Given the description of an element on the screen output the (x, y) to click on. 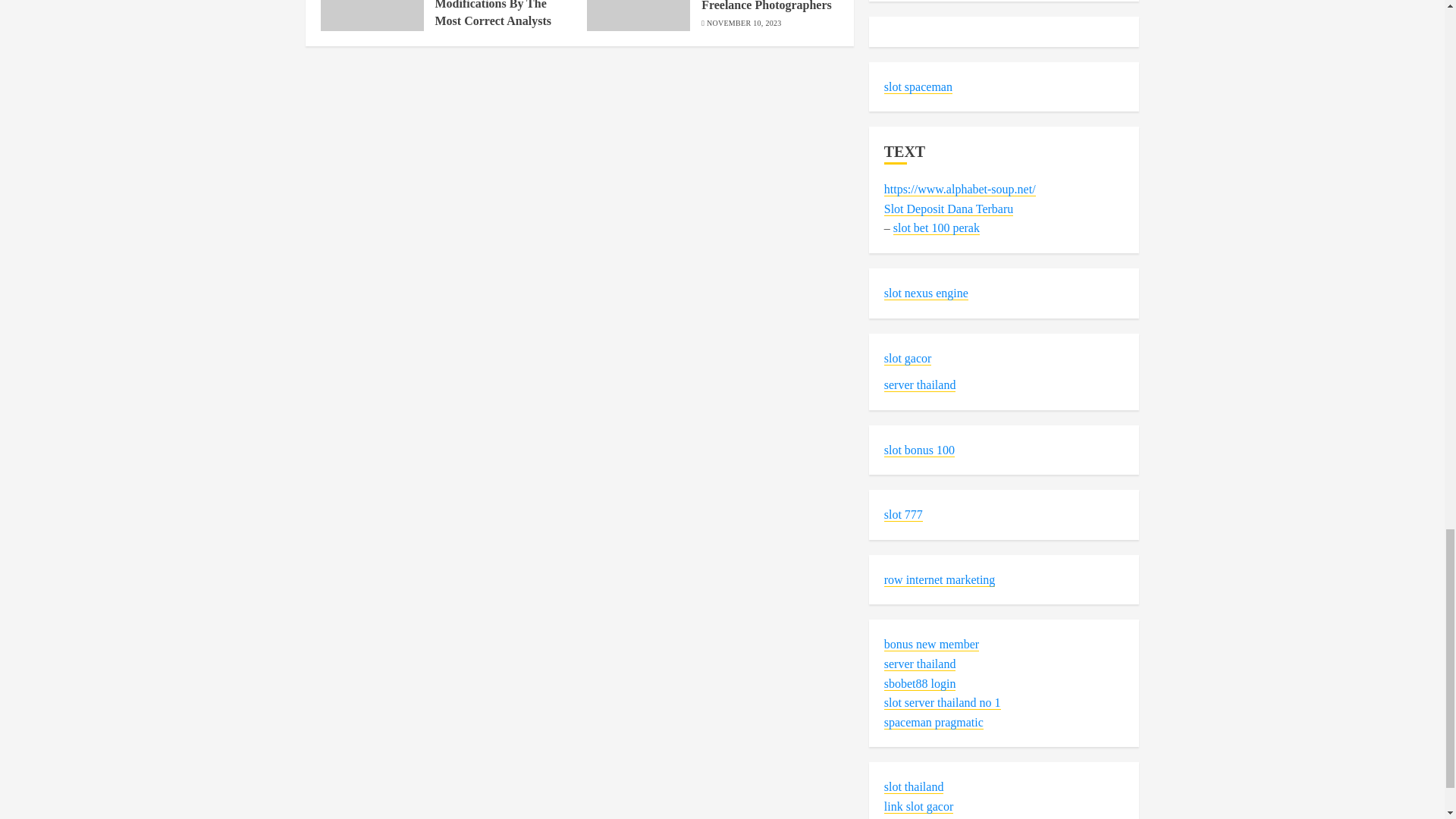
NOVEMBER 10, 2023 (743, 23)
